Given the description of an element on the screen output the (x, y) to click on. 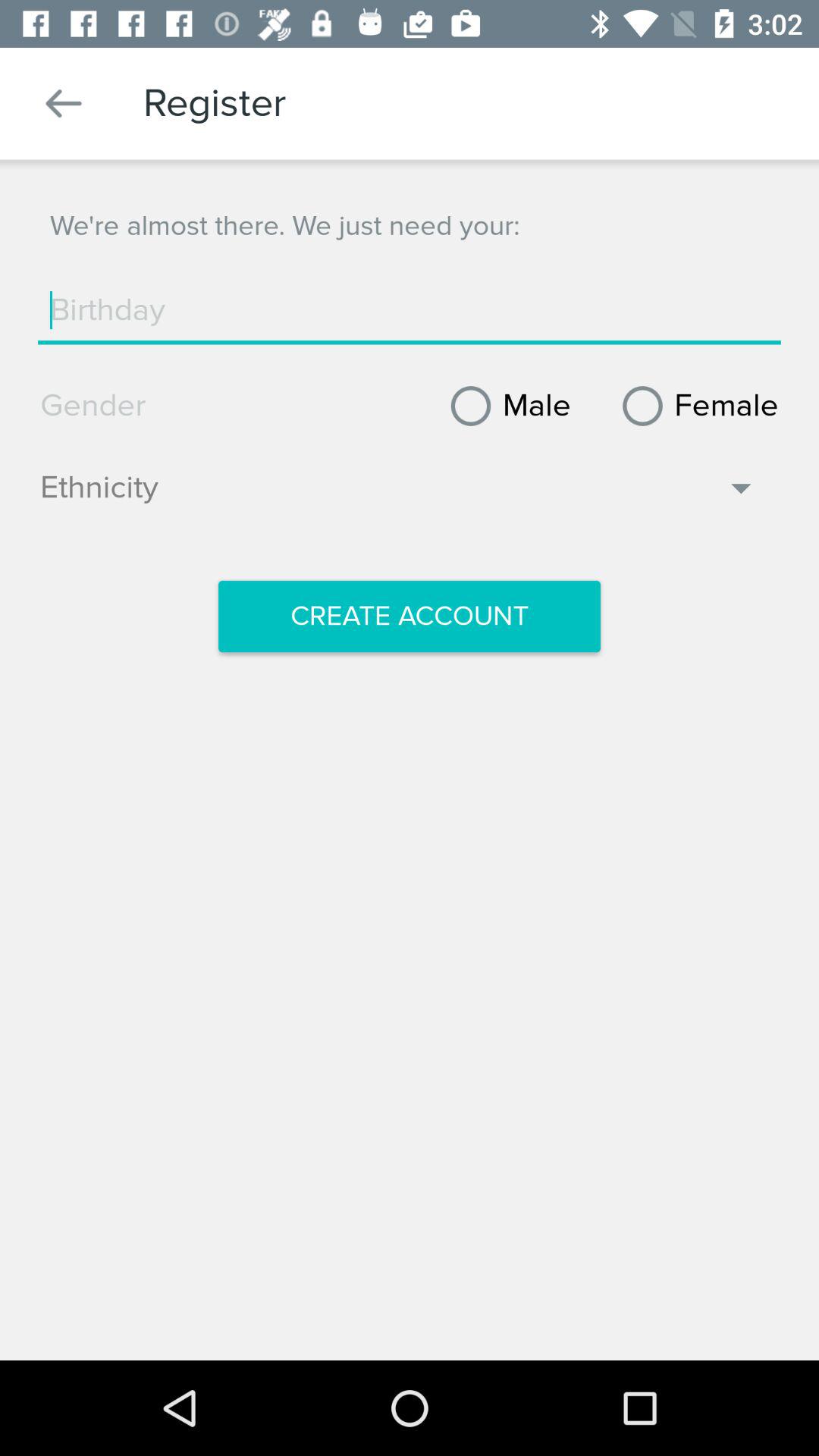
turn on the icon to the left of female (505, 405)
